Given the description of an element on the screen output the (x, y) to click on. 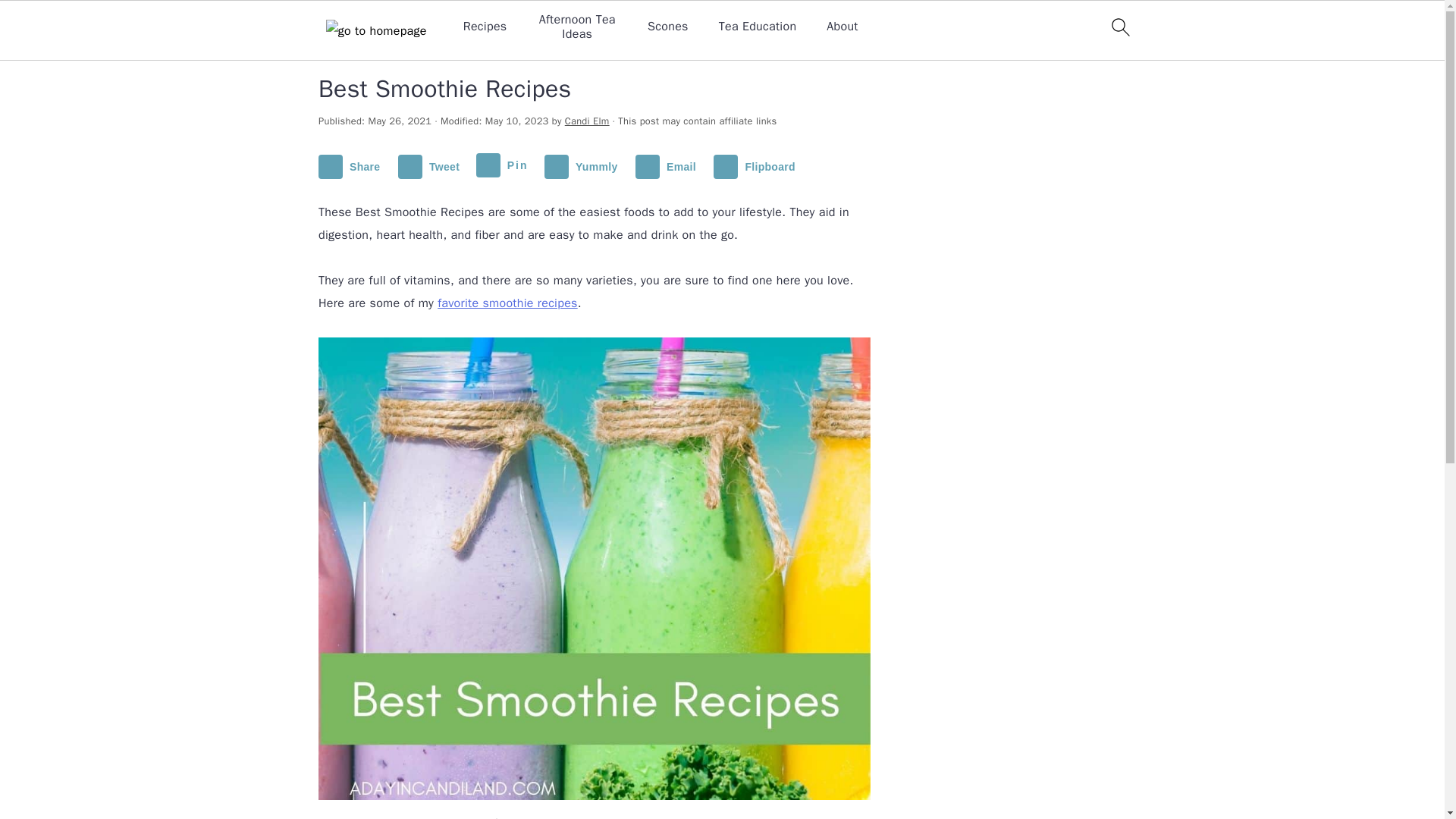
Pinterest (986, 137)
Instagram (986, 38)
Recipes (484, 26)
Share on Flipboard (757, 166)
Share on Facebook (352, 166)
Save to Pinterest (505, 166)
Pinterest (986, 189)
About (842, 26)
Scones (667, 26)
